Given the description of an element on the screen output the (x, y) to click on. 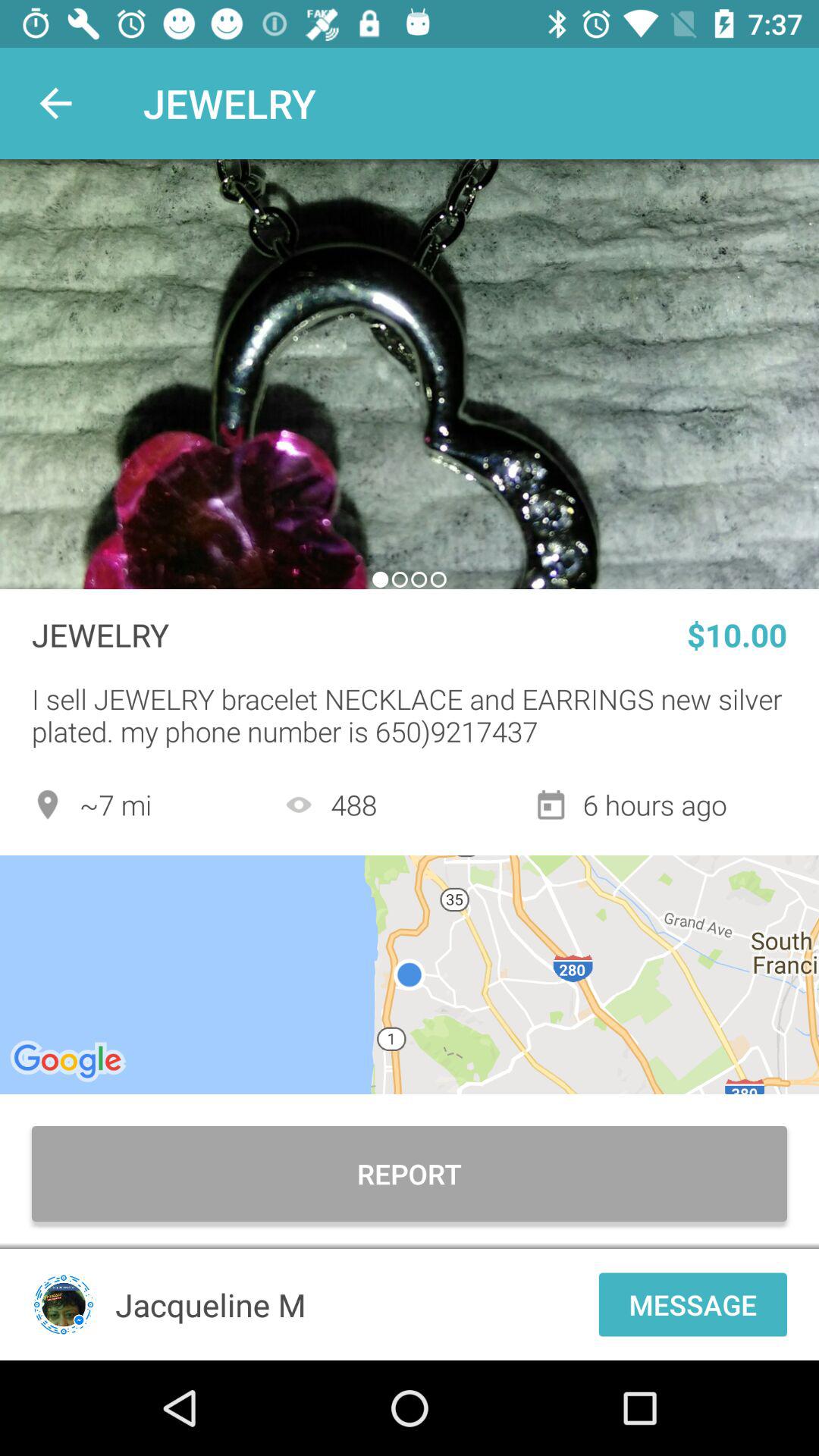
scroll to the jacqueline m (351, 1304)
